Given the description of an element on the screen output the (x, y) to click on. 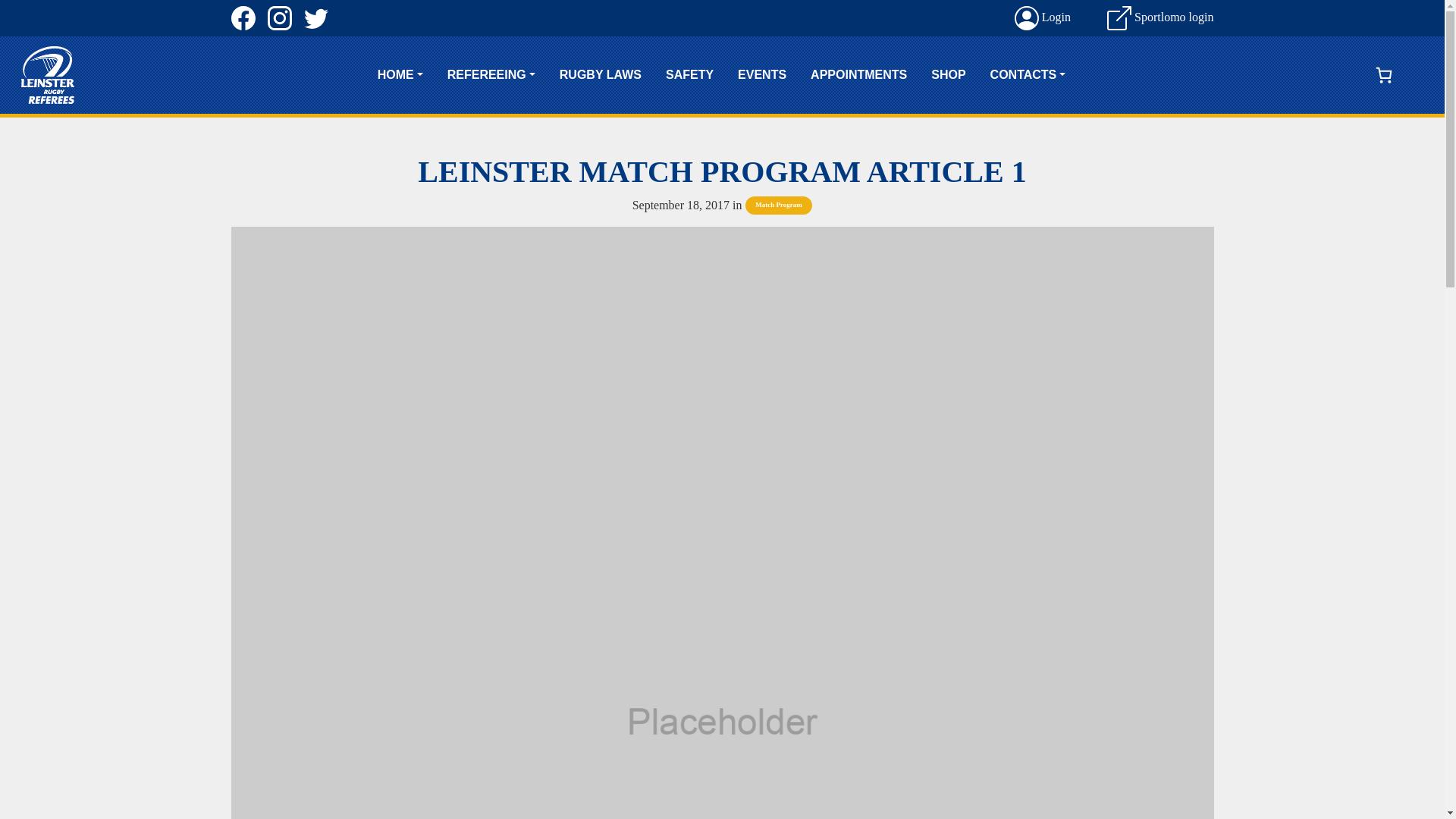
SHOP (947, 75)
APPOINTMENTS (857, 75)
CONTACTS (1028, 75)
Sportlomo login (1159, 16)
SAFETY (689, 75)
EVENTS (761, 75)
HOME (400, 75)
REFEREEING (491, 75)
RUGBY LAWS (600, 75)
Login (1042, 16)
